Given the description of an element on the screen output the (x, y) to click on. 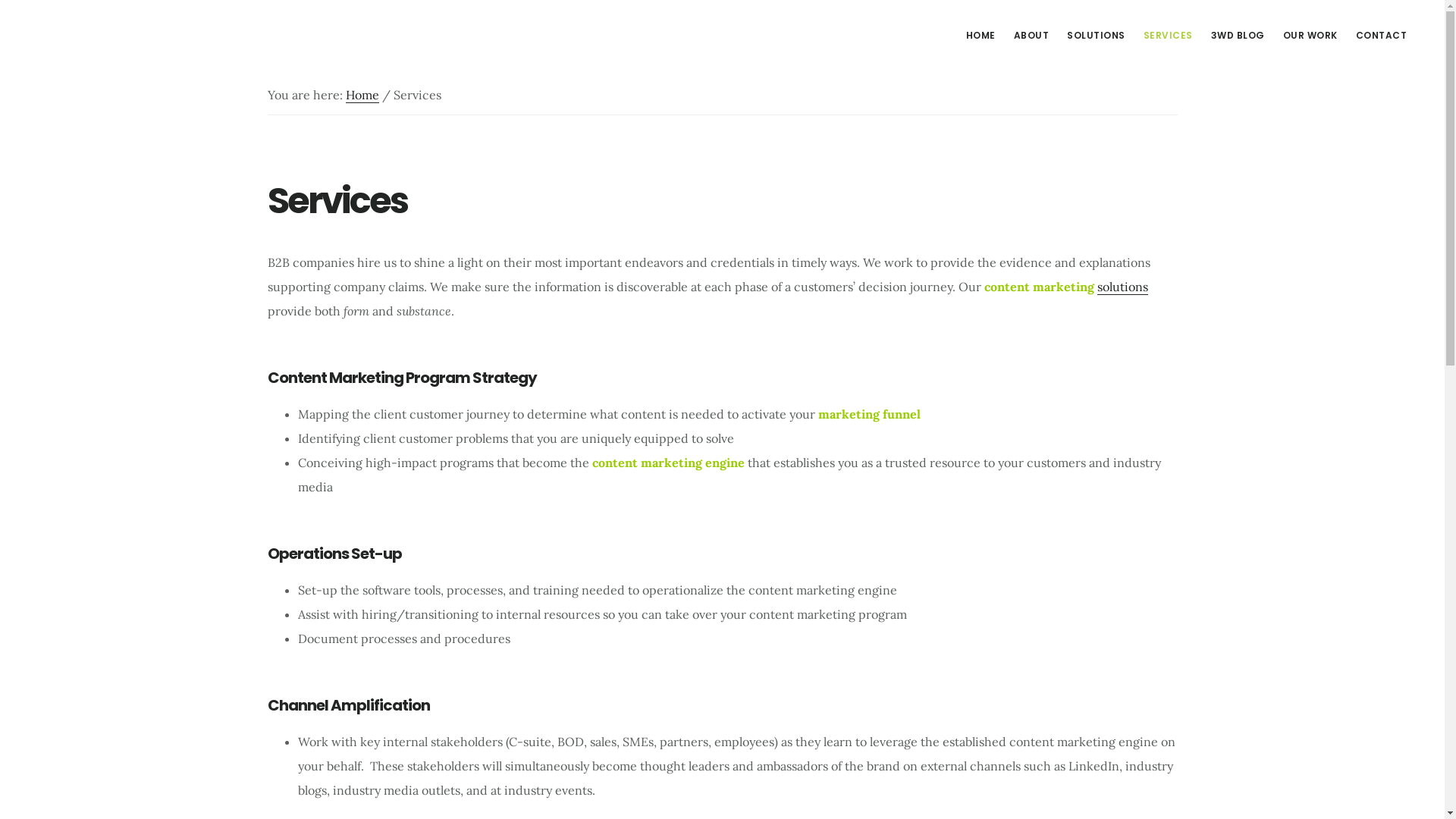
solutions Element type: text (1121, 286)
HOME Element type: text (980, 35)
SOLUTIONS Element type: text (1095, 35)
ABOUT Element type: text (1030, 35)
3WD BLOG Element type: text (1236, 35)
Home Element type: text (362, 95)
CONTACT Element type: text (1381, 35)
SERVICES Element type: text (1167, 35)
OUR WORK Element type: text (1310, 35)
Skip to main content Element type: text (0, 0)
3WAYSDIGITAL Element type: text (143, 32)
